Given the description of an element on the screen output the (x, y) to click on. 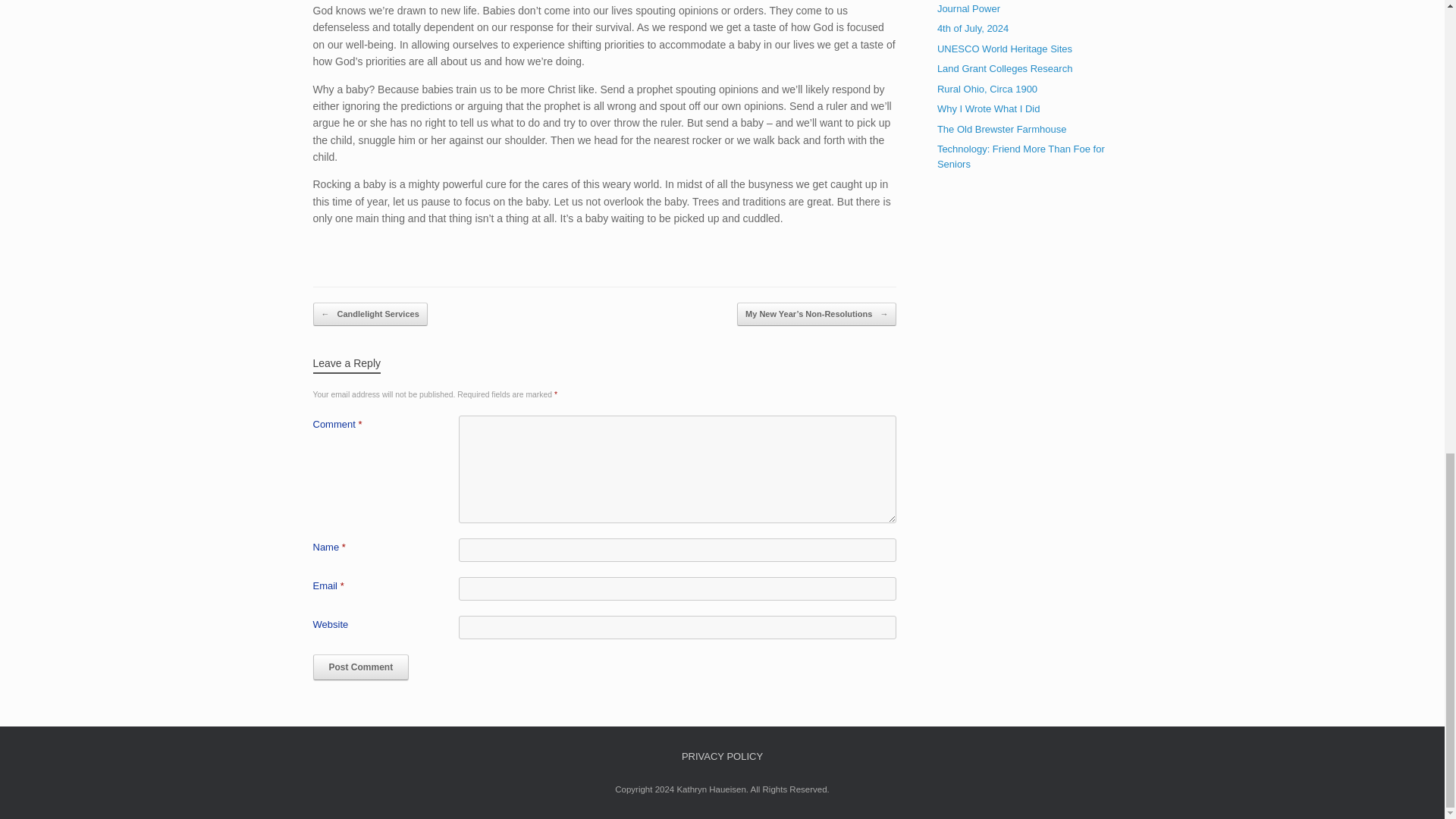
UNESCO World Heritage Sites (1004, 48)
Post Comment (361, 667)
Land Grant Colleges Research (1005, 68)
Journal Power (968, 8)
Post Comment (361, 667)
4th of July, 2024 (973, 28)
